Given the description of an element on the screen output the (x, y) to click on. 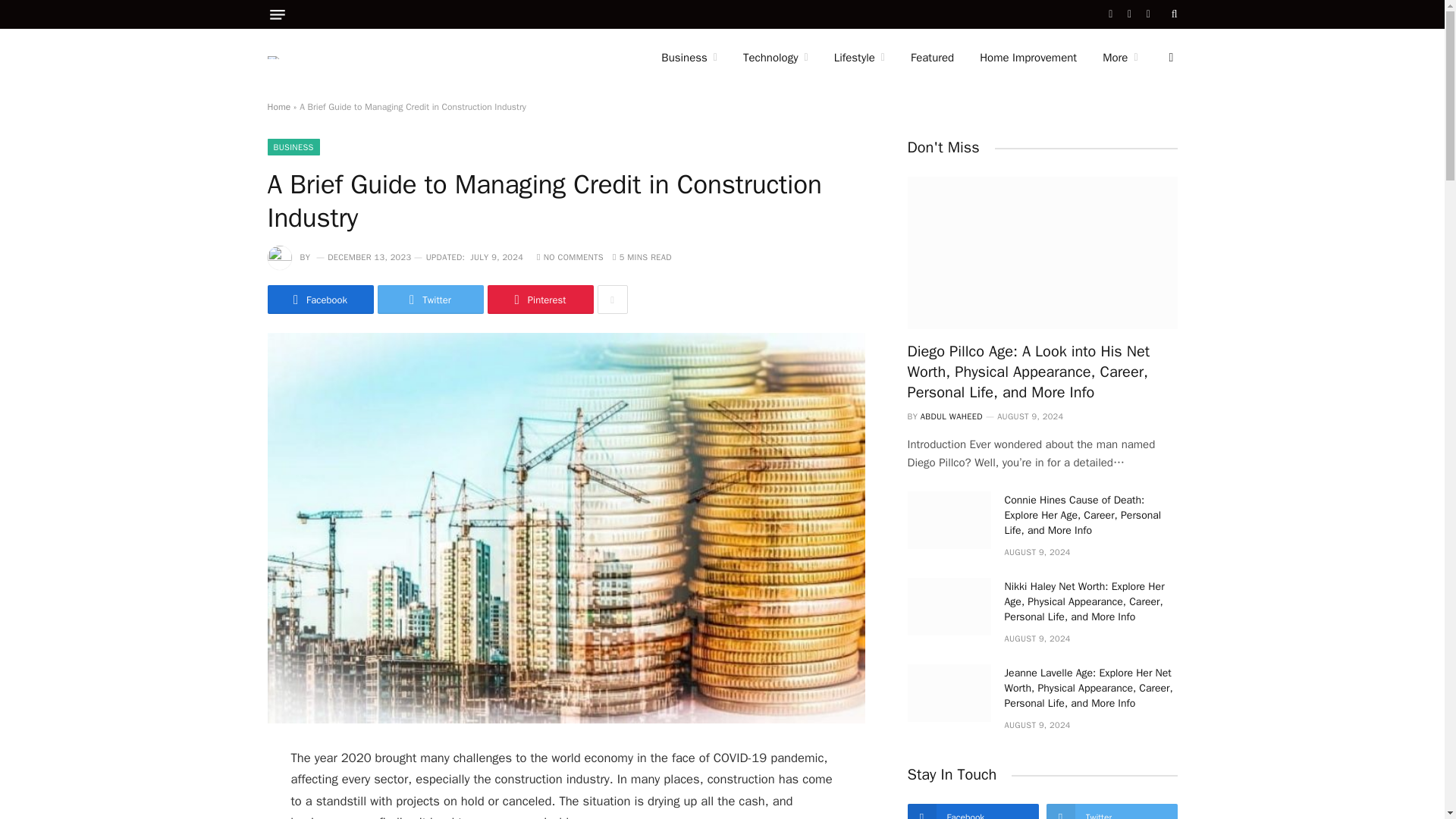
Home Improvement (1027, 57)
Show More Social Sharing (611, 299)
Lifestyle (859, 57)
Share on Pinterest (539, 299)
Business (688, 57)
Featured (932, 57)
Technology (775, 57)
Share on Facebook (319, 299)
More (1119, 57)
